Given the description of an element on the screen output the (x, y) to click on. 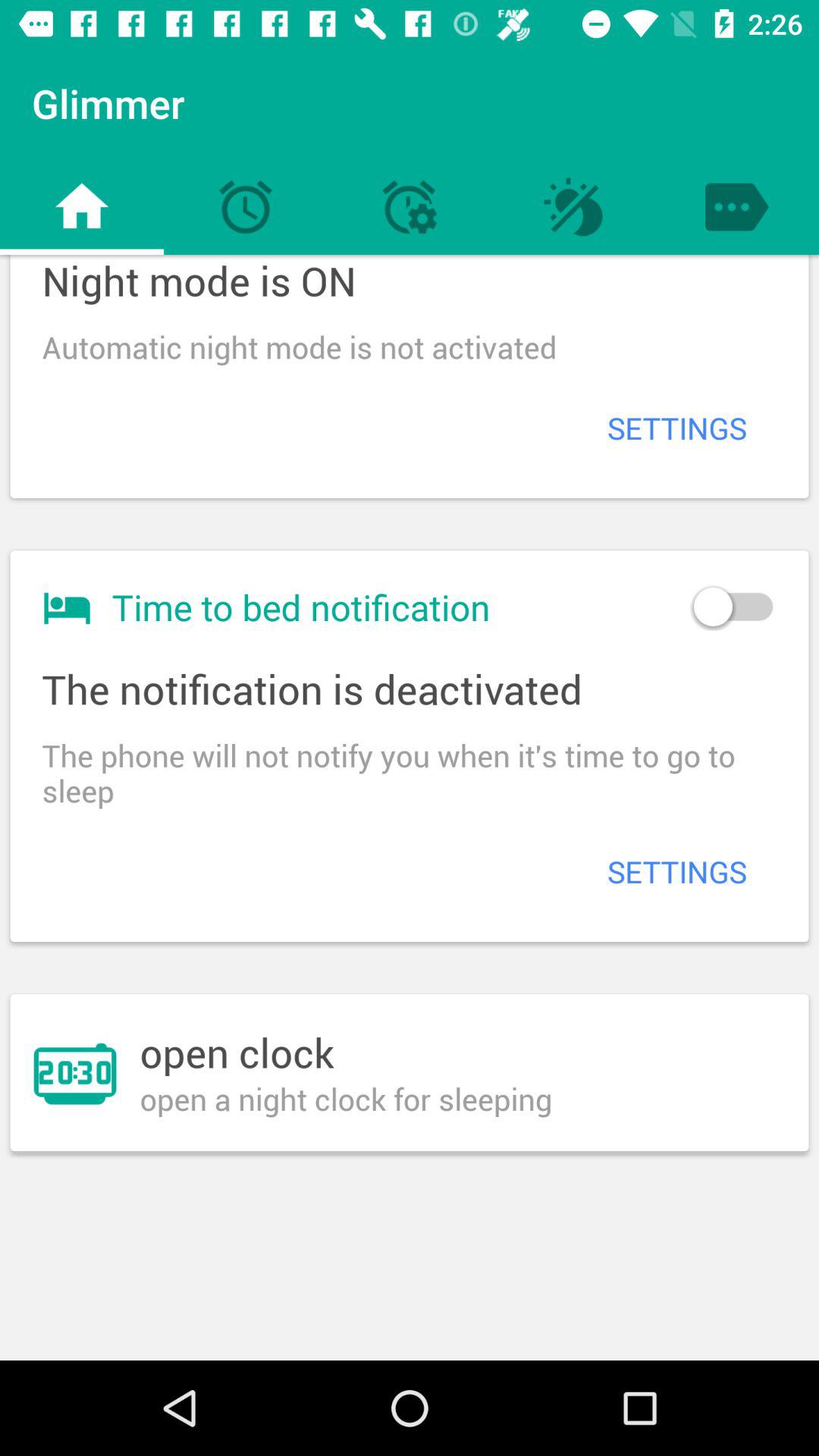
choose the icon above the the notification is (732, 606)
